Given the description of an element on the screen output the (x, y) to click on. 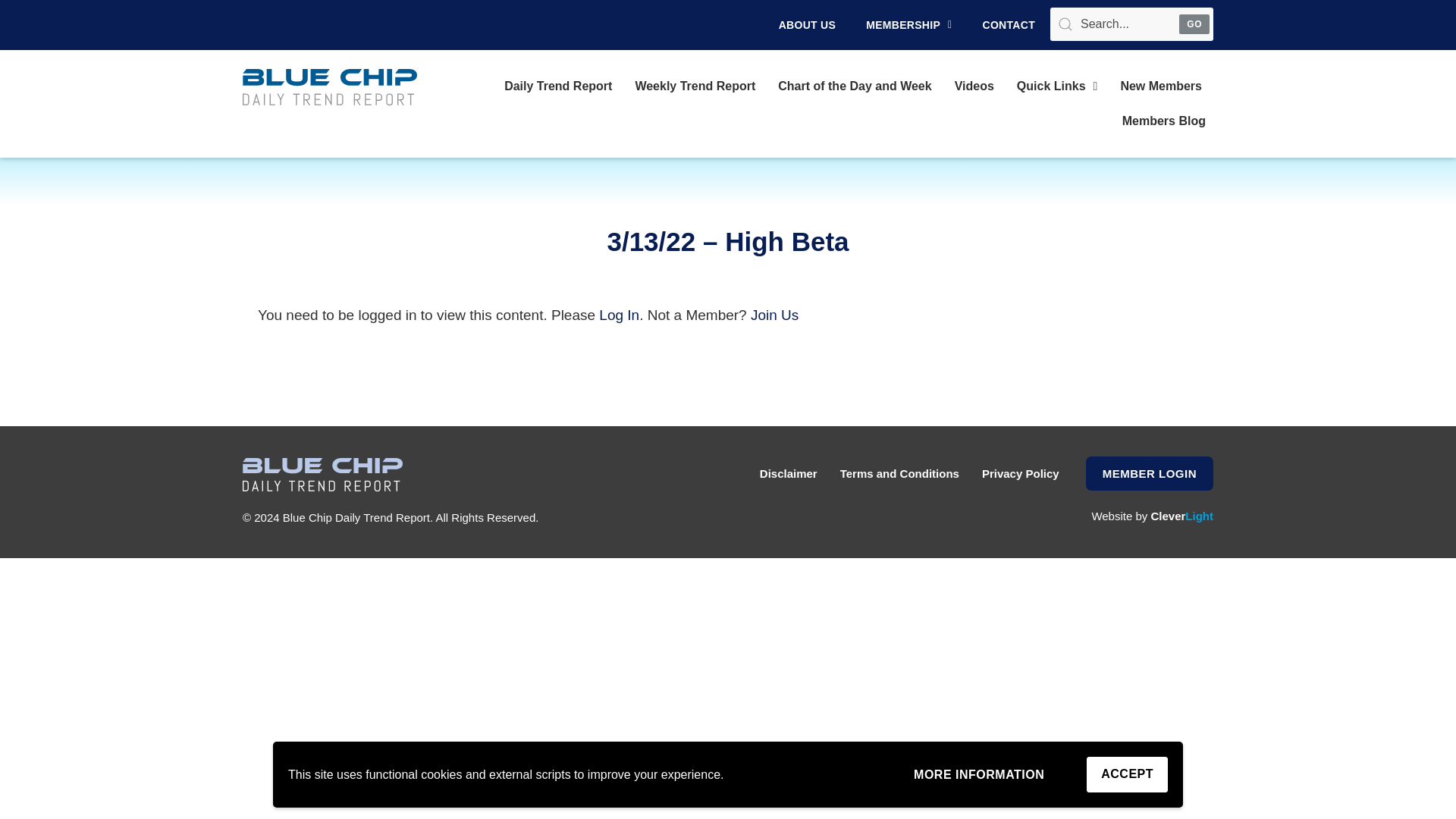
Videos (974, 86)
Chart of the Day and Week (854, 86)
MEMBERSHIP (908, 24)
Search (1130, 23)
ABOUT US (806, 24)
New Members (1160, 86)
CONTACT (1009, 24)
Weekly Trend Report (694, 86)
GO (1194, 24)
Quick Links (1057, 86)
Members Blog (1163, 121)
Daily Trend Report (558, 86)
